Given the description of an element on the screen output the (x, y) to click on. 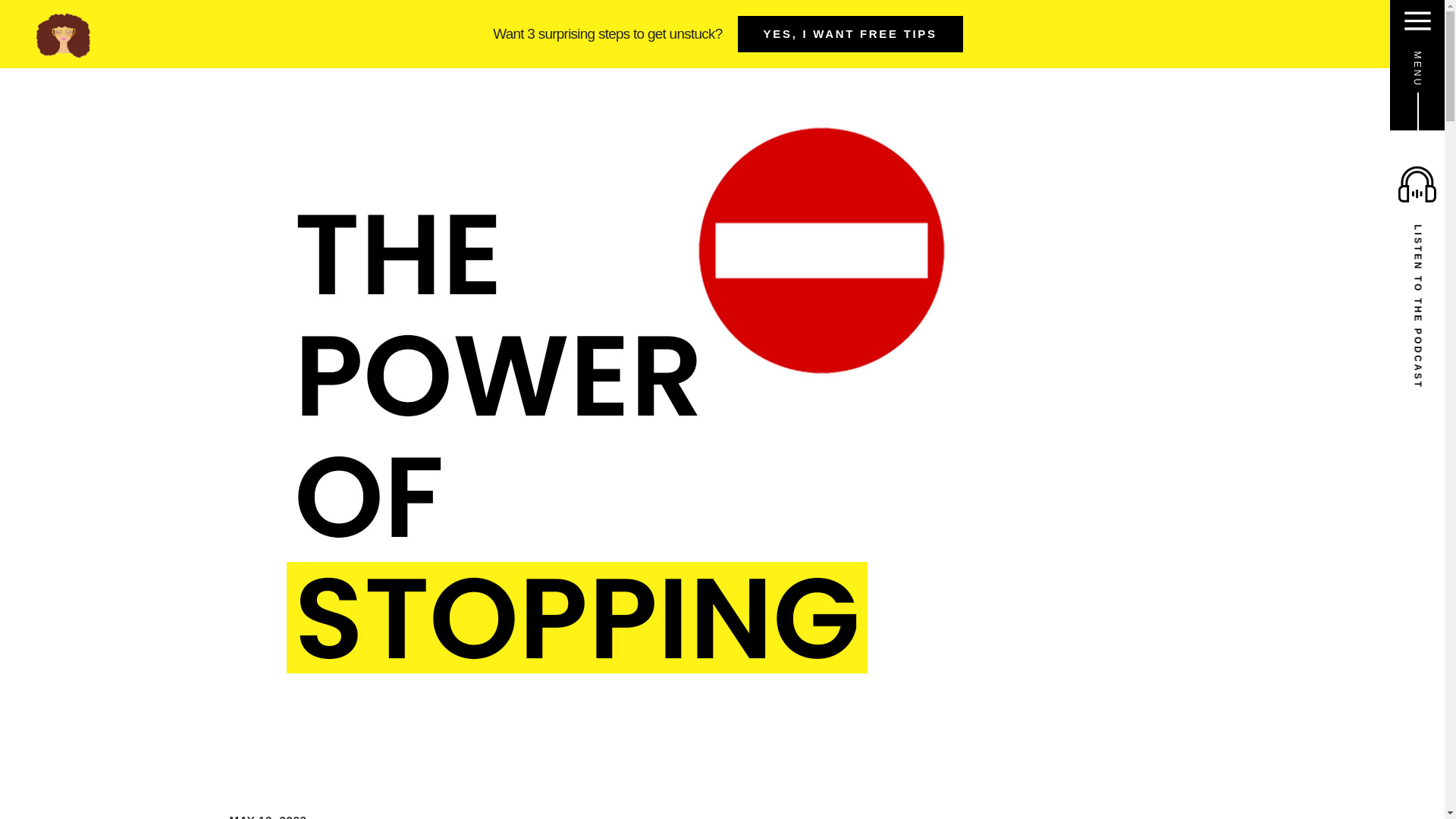
MAY 12, 2023 (266, 815)
Yes, I want in (933, 501)
Yes, I want free tips (933, 437)
YES, I WANT FREE TIPS (850, 33)
